Given the description of an element on the screen output the (x, y) to click on. 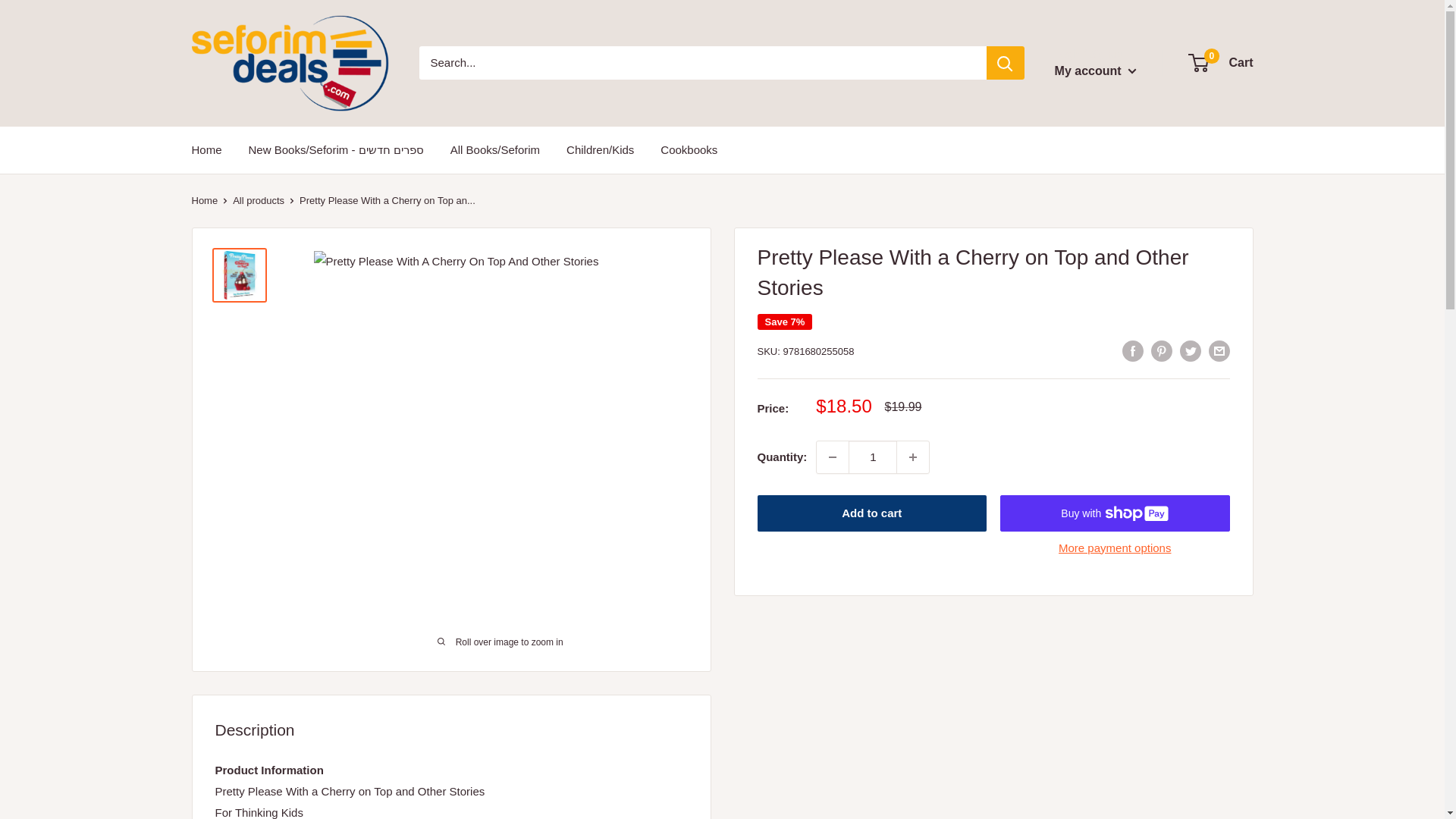
1 (872, 457)
Cookbooks (689, 149)
All products (257, 200)
Increase quantity by 1 (912, 457)
My account (1095, 70)
Home (203, 200)
Home (205, 149)
Decrease quantity by 1 (832, 457)
